Given the description of an element on the screen output the (x, y) to click on. 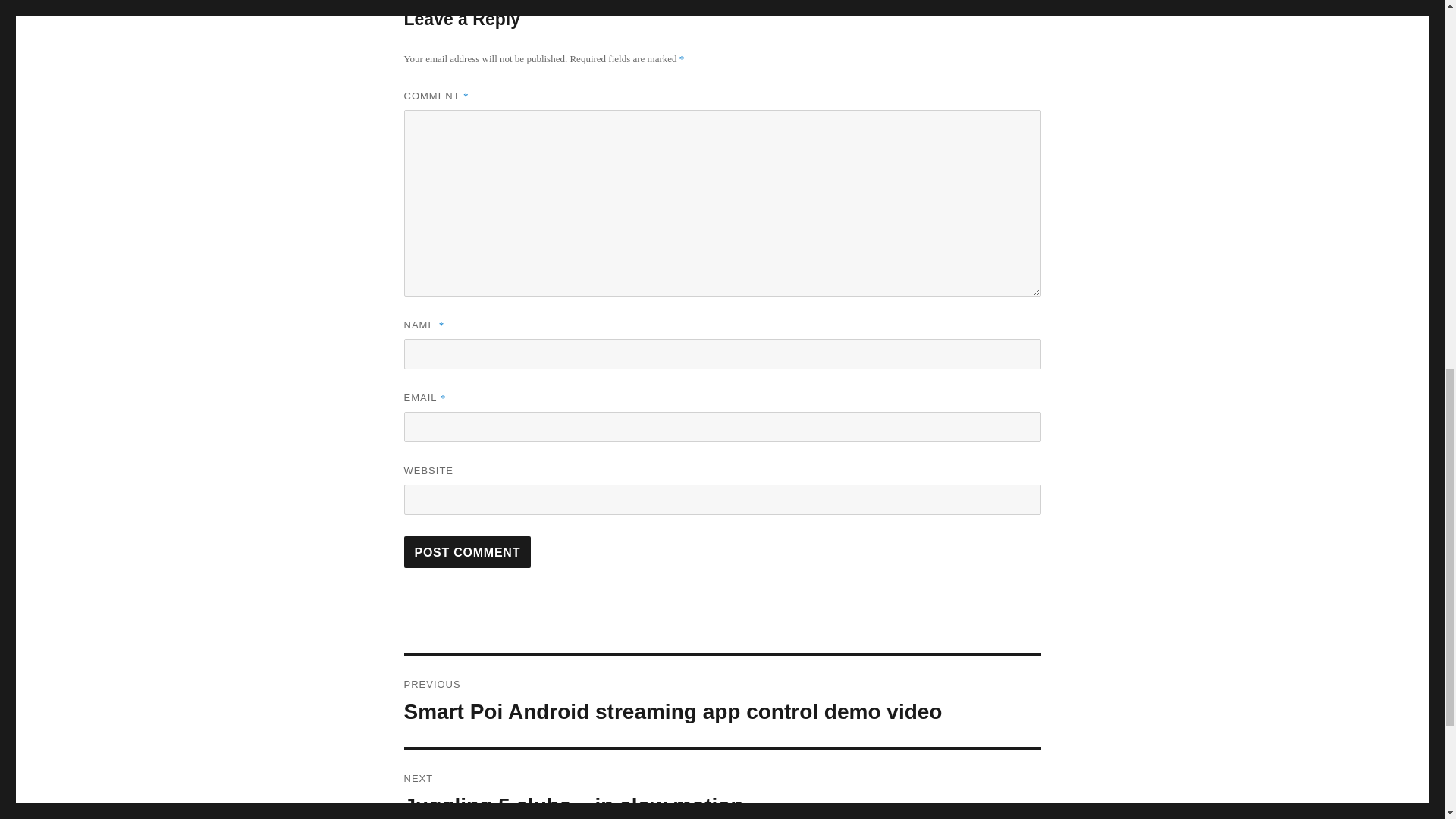
Post Comment (467, 552)
